Given the description of an element on the screen output the (x, y) to click on. 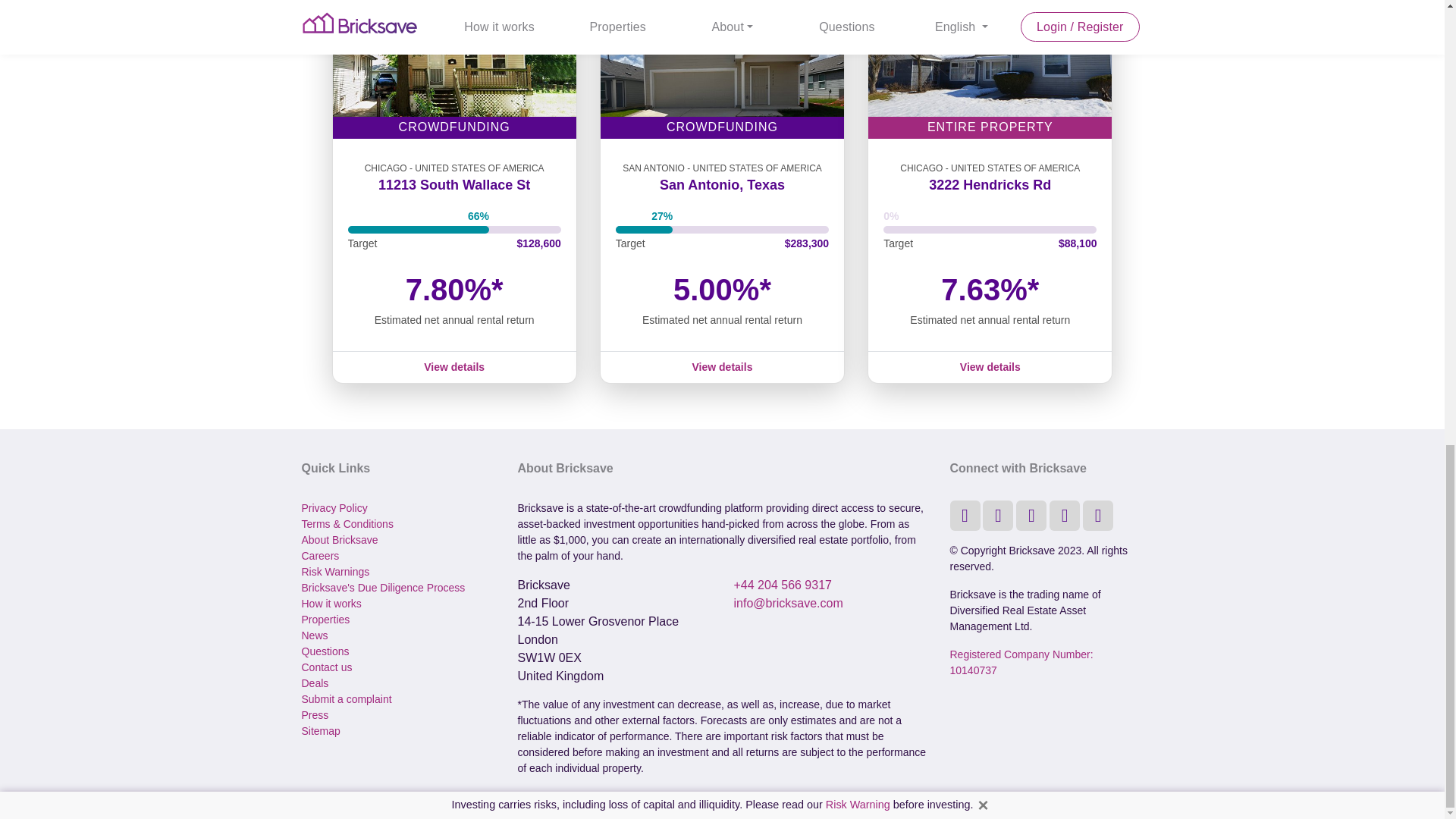
View details (989, 367)
ENTIRE PROPERTY (989, 69)
CROWDFUNDING (453, 69)
View details (453, 367)
View details (721, 367)
CROWDFUNDING (721, 69)
